Given the description of an element on the screen output the (x, y) to click on. 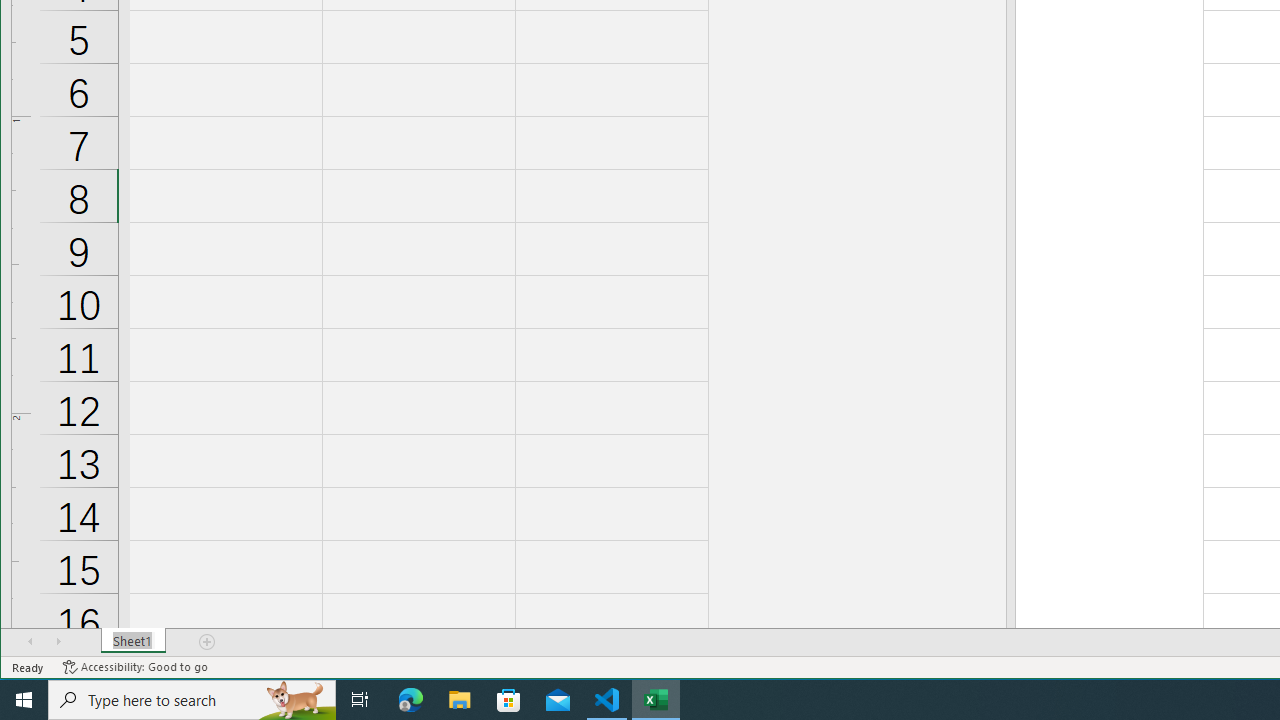
Sheet1 (133, 641)
